Given the description of an element on the screen output the (x, y) to click on. 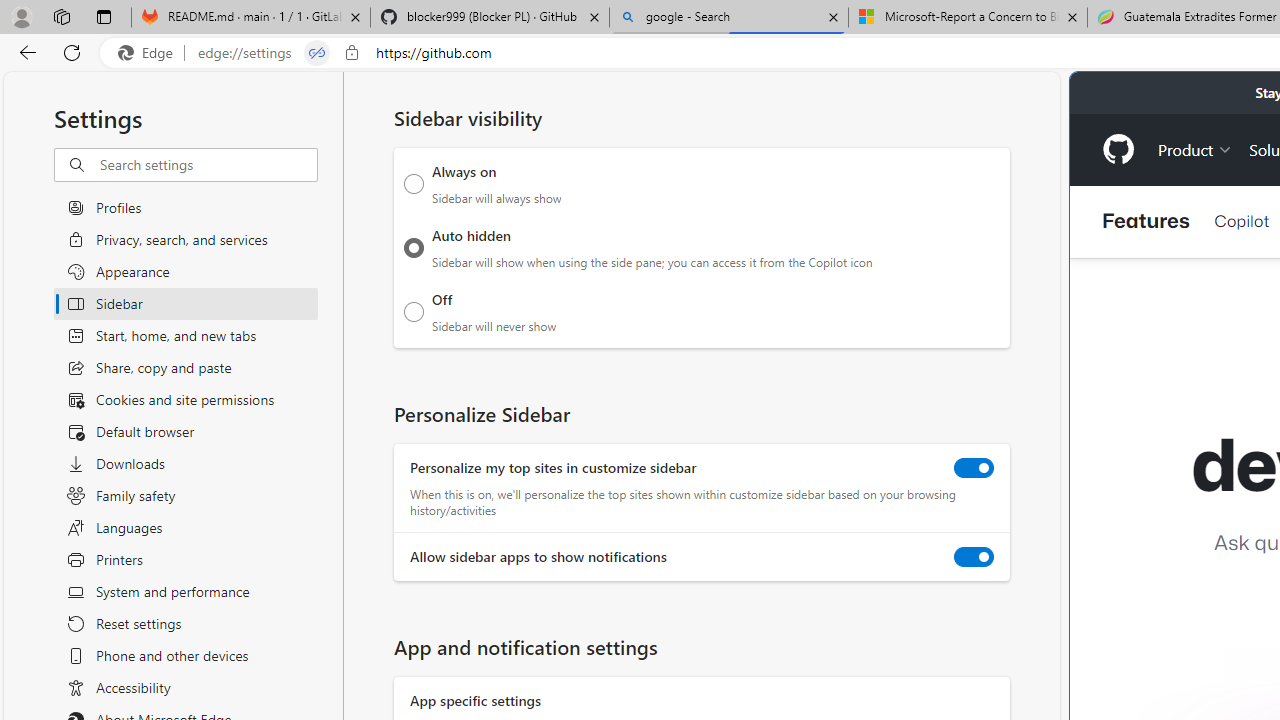
Features (1146, 221)
Copilot (1241, 220)
Product (1195, 148)
Always on Sidebar will always show (413, 183)
Allow sidebar apps to show notifications (973, 557)
Edge (150, 53)
Product (1195, 148)
Tabs in split screen (317, 53)
